Given the description of an element on the screen output the (x, y) to click on. 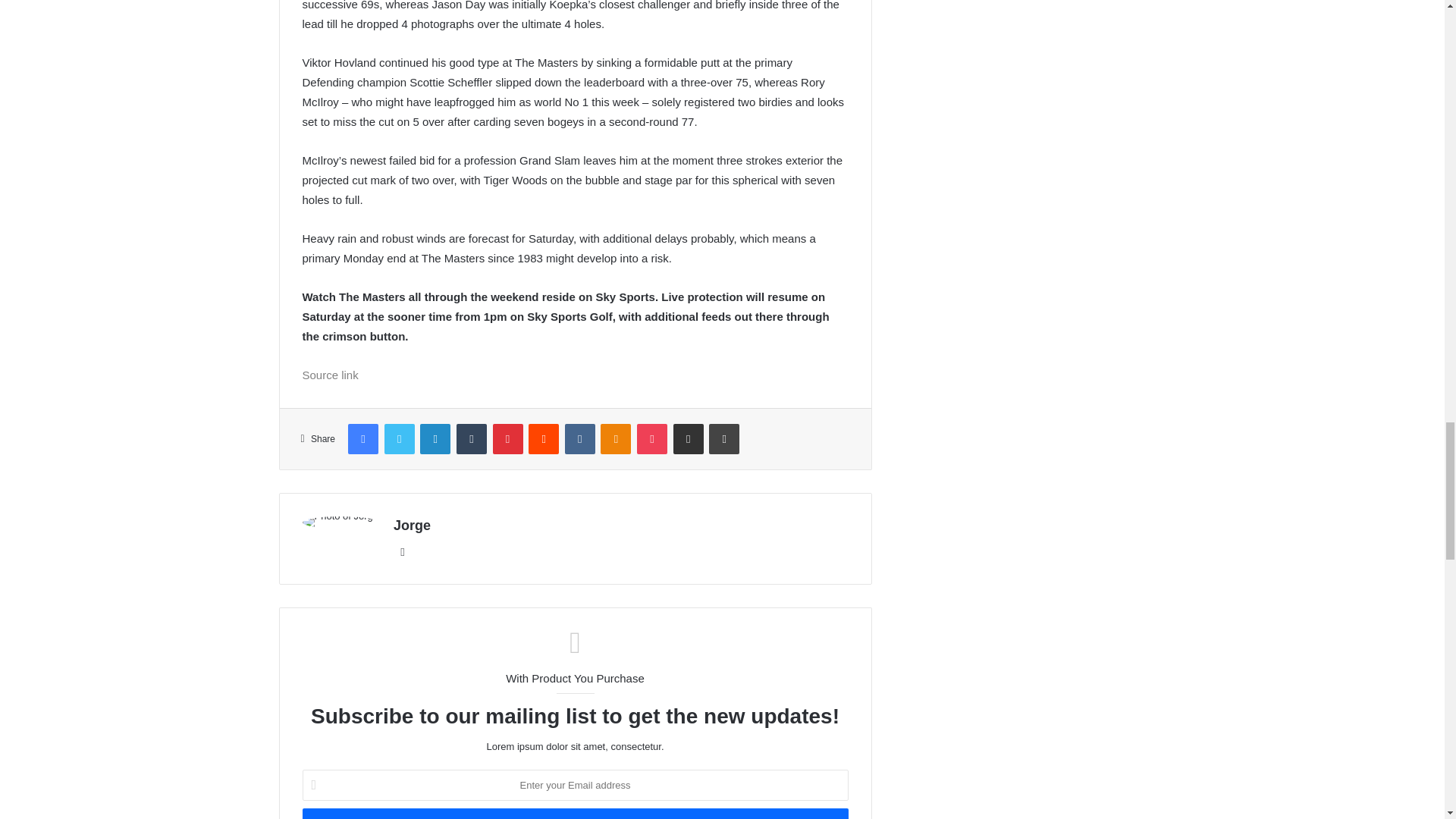
Source link (329, 374)
Subscribe (574, 813)
